Given the description of an element on the screen output the (x, y) to click on. 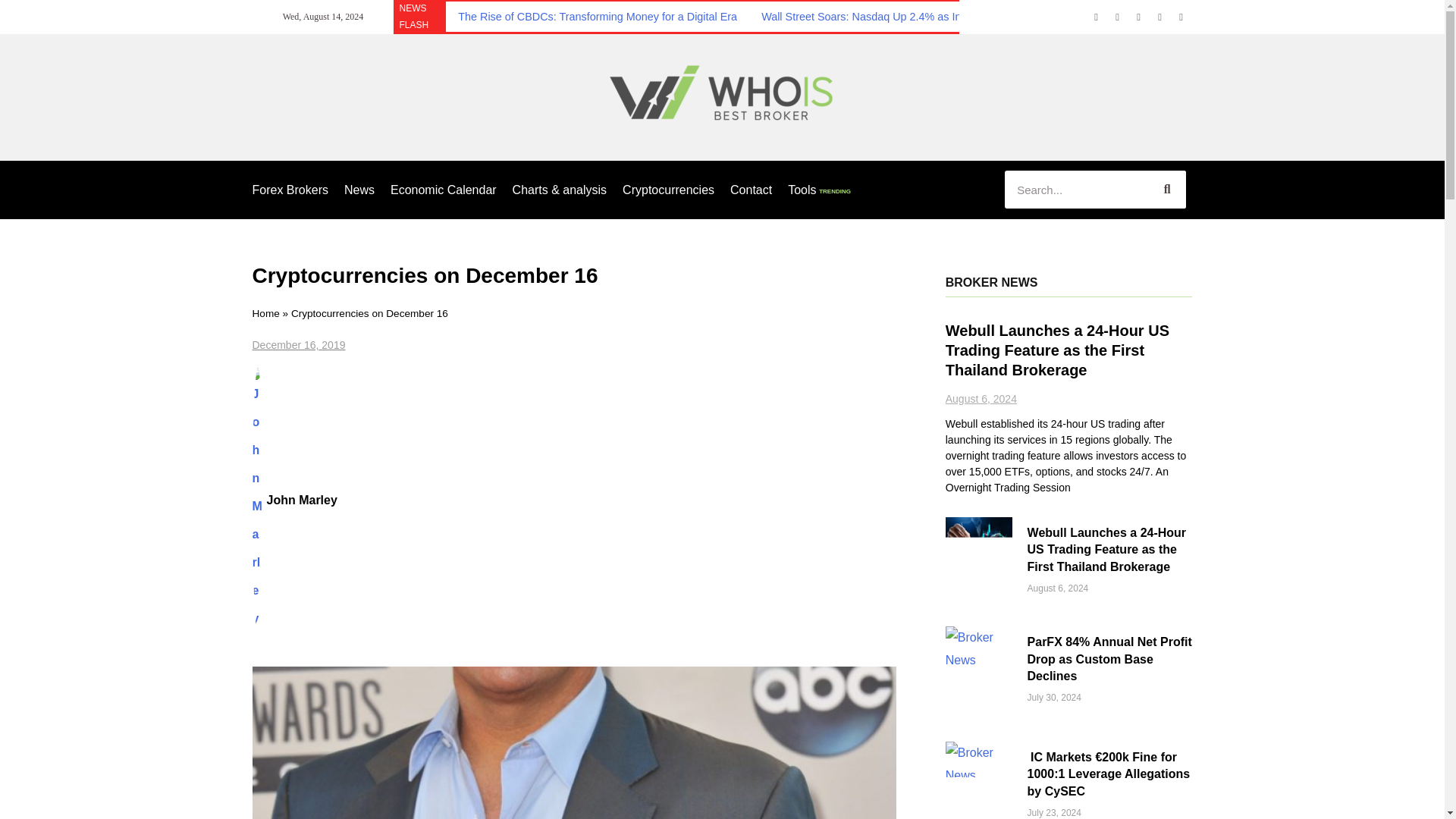
The price of cryptocurrencies (573, 742)
Economic Calendar (443, 189)
Forex Brokers (289, 189)
The Rise of CBDCs: Transforming Money for a Digital Era (597, 16)
